Given the description of an element on the screen output the (x, y) to click on. 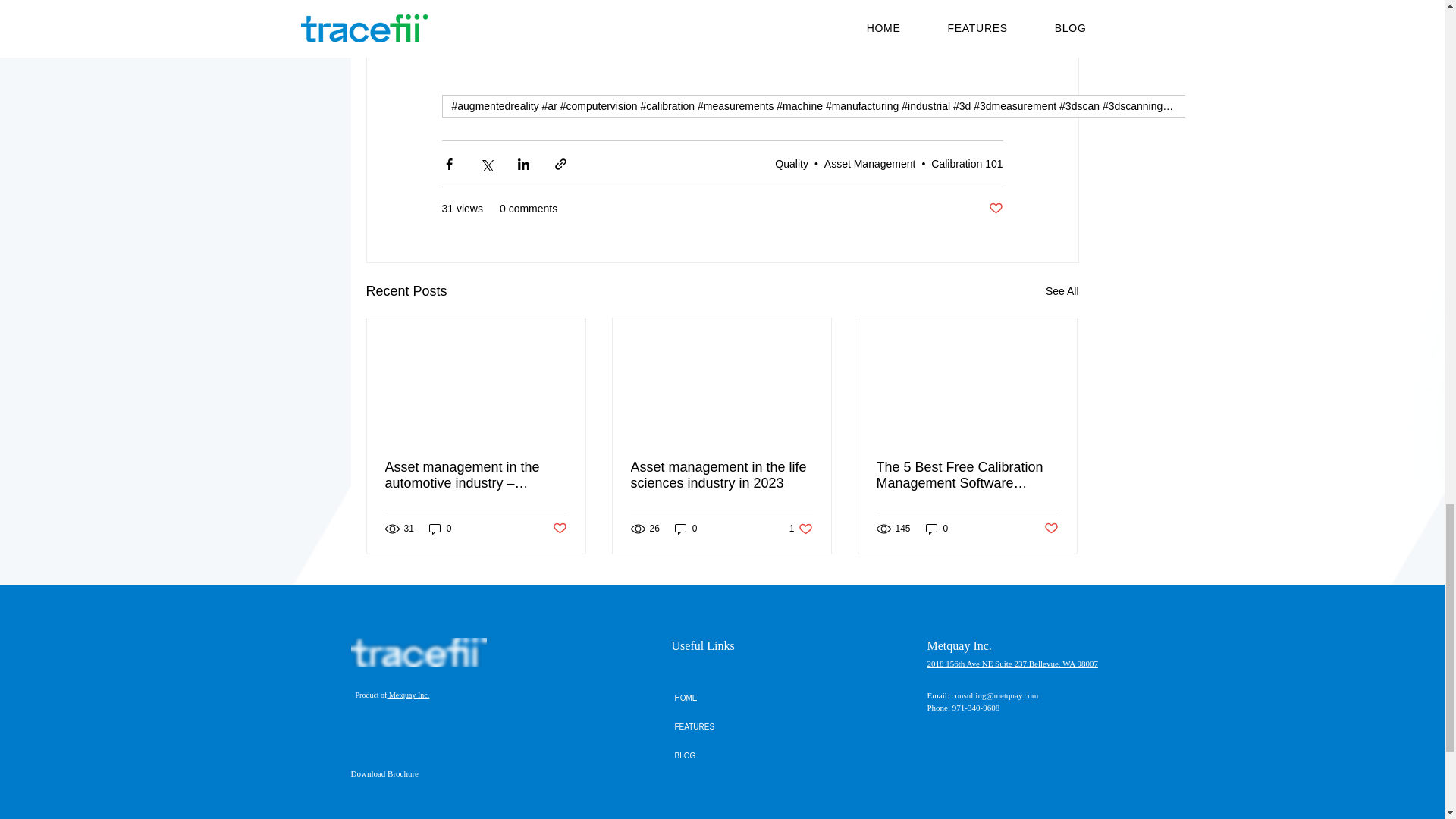
0 (937, 528)
Calibration 101 (800, 528)
Asset management in the life sciences industry in 2023 (967, 163)
Quality (721, 475)
0 (791, 163)
See All (685, 528)
Post not marked as liked (1061, 291)
Asset Management (995, 208)
Post not marked as liked (869, 163)
Post not marked as liked (558, 528)
Metquay Inc. (1050, 528)
0 (408, 695)
